Given the description of an element on the screen output the (x, y) to click on. 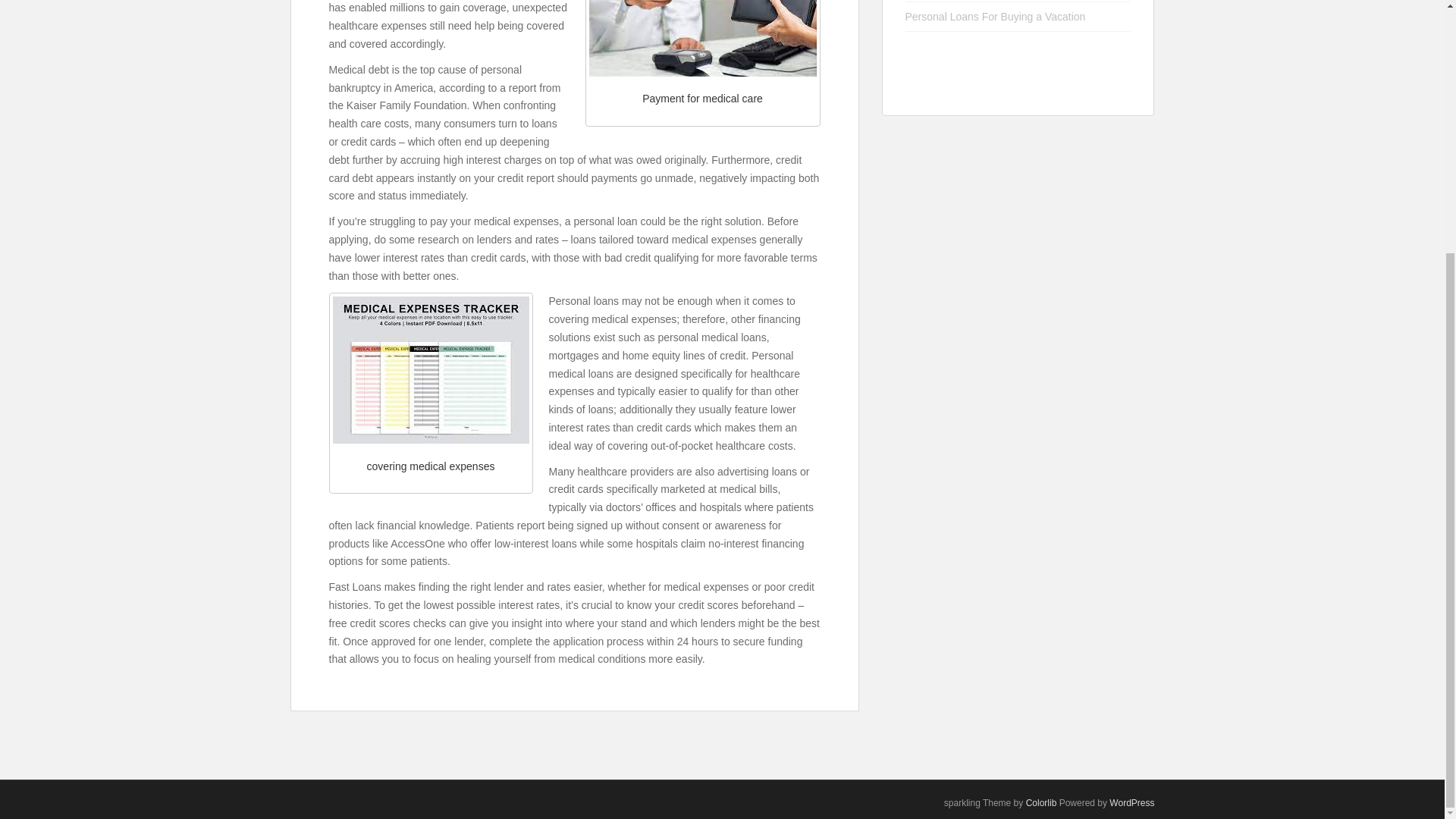
WordPress (1131, 802)
Colorlib (1041, 802)
Personal Loans For Buying a Vacation (995, 16)
